Given the description of an element on the screen output the (x, y) to click on. 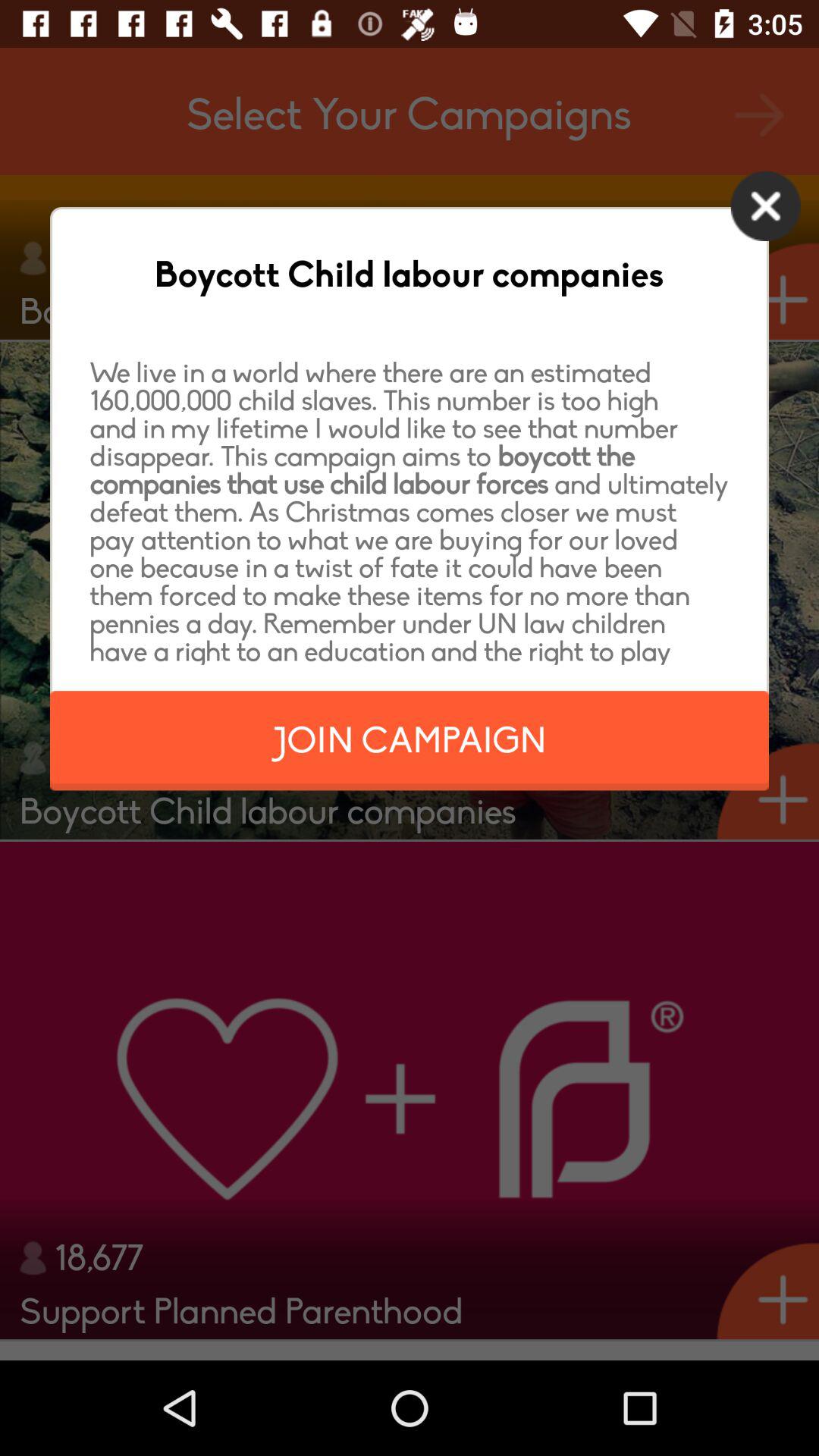
choose icon at the top right corner (765, 206)
